Given the description of an element on the screen output the (x, y) to click on. 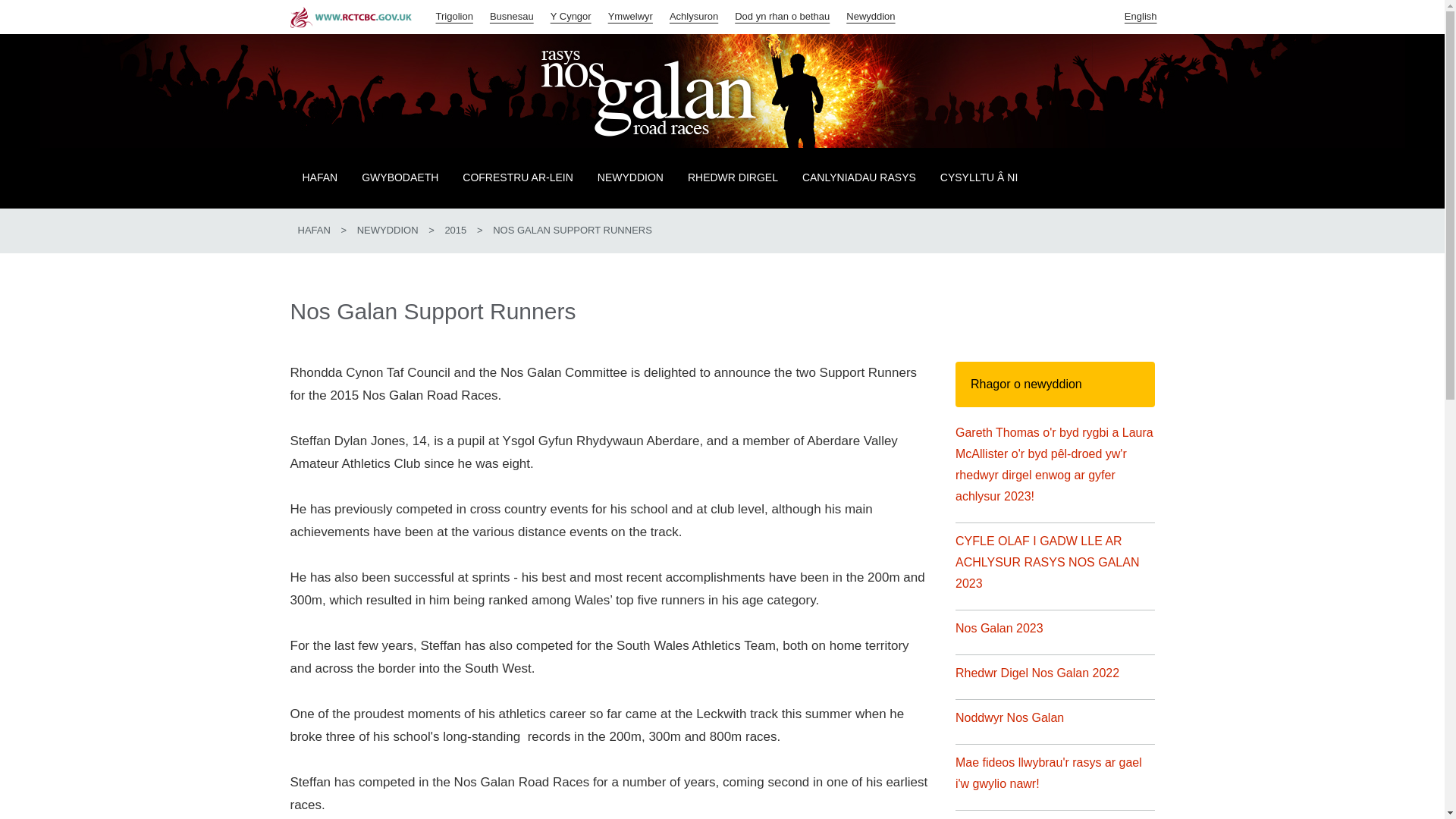
Nos Galan 2023 (999, 628)
CANLYNIADAU RASYS (859, 178)
Newyddion (871, 15)
2015 (454, 229)
NEWYDDION (387, 229)
Ewch iRhedwr Dirgeloddi yma (732, 178)
CYFLE OLAF I GADW LLE AR ACHLYSUR RASYS NOS GALAN 2023 (1046, 562)
HAFAN (313, 229)
Mae fideos llwybrau'r rasys ar gael i'w gwylio nawr! (1048, 773)
Mae fideos llwybrau'r rasys ar gael i'w gwylio nawr! (1048, 773)
Nos Galan 2023 (999, 628)
Trigolion (454, 15)
Ymwelwyr (630, 15)
Noddwyr Nos Galan (1009, 718)
GWYBODAETH (399, 178)
